Given the description of an element on the screen output the (x, y) to click on. 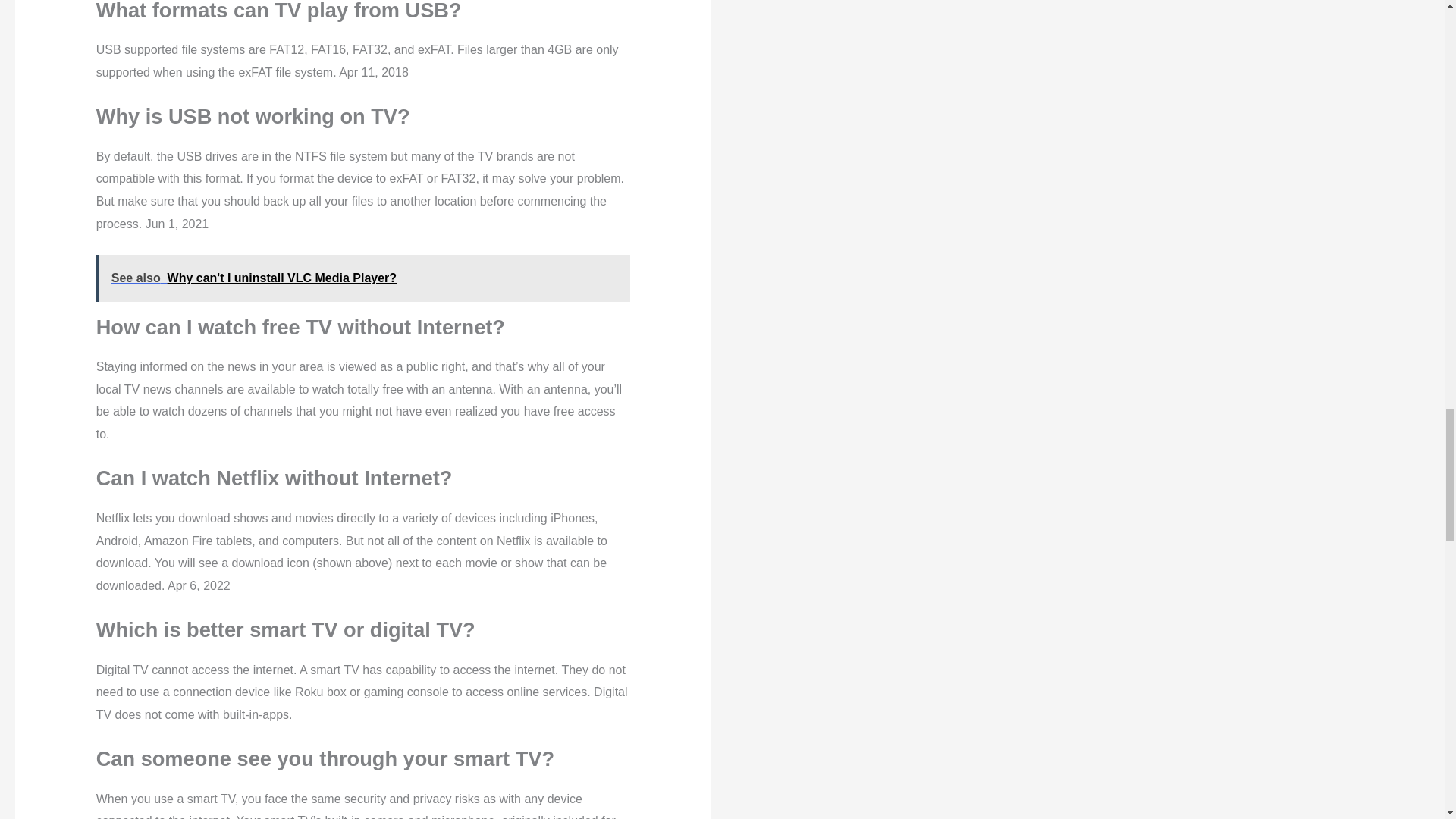
See also  Why can't I uninstall VLC Media Player? (363, 278)
